Given the description of an element on the screen output the (x, y) to click on. 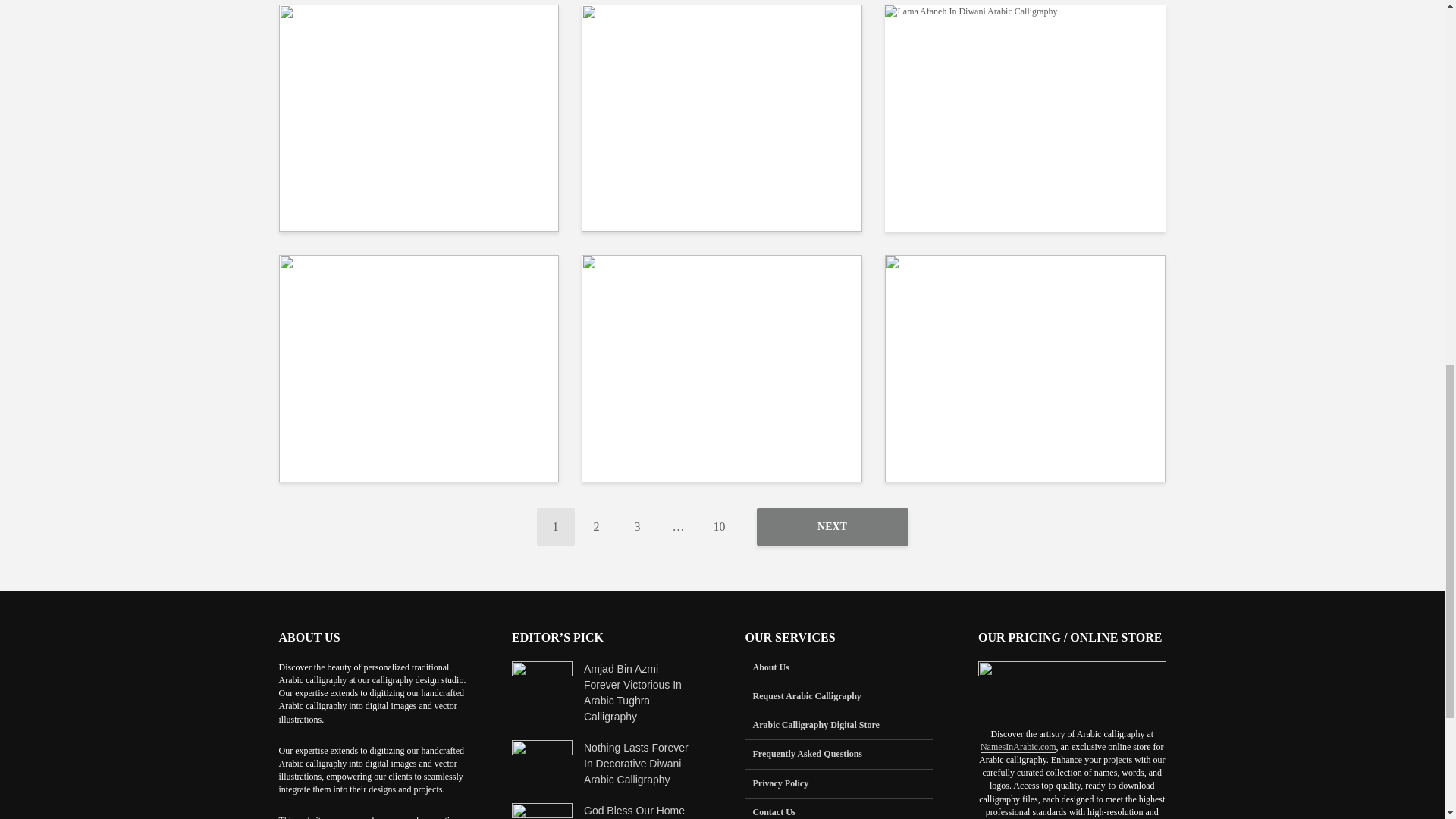
Lama Afaneh In Diwani Arabic Calligraphy (971, 9)
Imad Al Mimi Name In Arabic Thuluth Calligraphy (722, 48)
Imad Al Mimi Name In Arabic Thuluth Calligraphy (720, 116)
Ismail Hijazi Name In Arabic Thuluth Calligraphy (419, 116)
Ismail Hijazi Name In Arabic Thuluth Calligraphy (419, 48)
Baraa Khdeir Name In Arabic Diwani Calligraphy (419, 366)
